Given the description of an element on the screen output the (x, y) to click on. 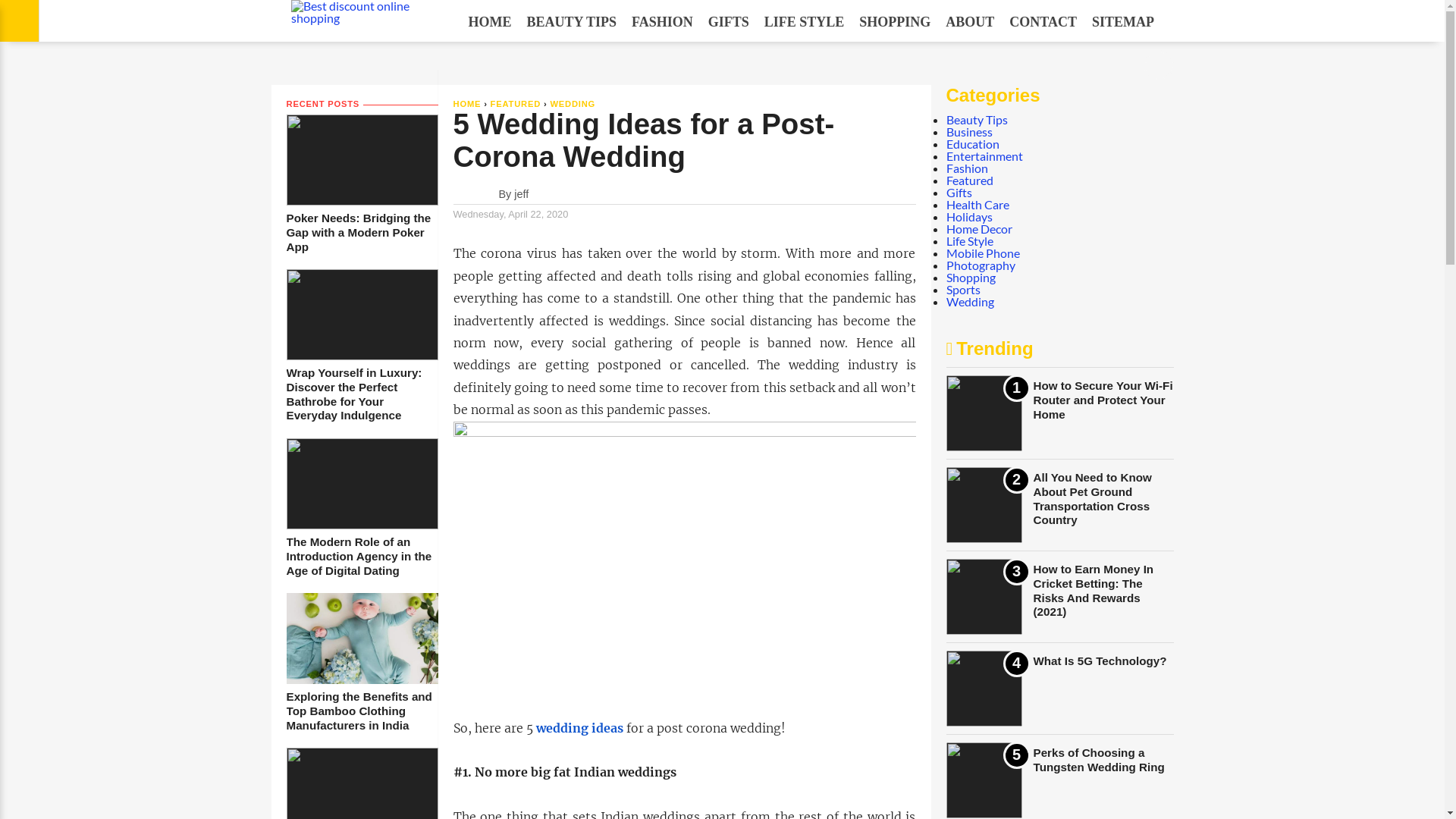
Gifts Element type: text (959, 192)
WEDDING Element type: text (572, 103)
HOME Element type: text (490, 21)
Poker Needs: Bridging the Gap with a Modern Poker App Element type: text (362, 232)
Fashion Element type: text (967, 167)
Education Element type: text (972, 143)
Featured Element type: text (969, 179)
Health Care Element type: text (977, 204)
Photography Element type: text (980, 264)
SHOPPING Element type: text (894, 21)
Shopping Element type: text (970, 276)
Business Element type: text (969, 131)
Holidays Element type: text (969, 216)
How to Secure Your Wi-Fi Router and Protect Your Home Element type: text (1102, 399)
FASHION Element type: text (662, 21)
Perks of Choosing a Tungsten Wedding Ring Element type: text (1098, 759)
Sports Element type: text (963, 289)
LIFE STYLE Element type: text (804, 21)
GIFTS Element type: text (728, 21)
What Is 5G Technology? Element type: text (1099, 660)
Life Style Element type: text (969, 240)
Home Decor Element type: text (979, 228)
ABOUT Element type: text (969, 21)
wedding ideas Element type: text (578, 727)
Entertainment Element type: text (984, 155)
SITEMAP Element type: text (1122, 21)
BEAUTY TIPS Element type: text (571, 21)
Mobile Phone Element type: text (982, 252)
Wedding Element type: text (970, 301)
CONTACT Element type: text (1042, 21)
HOME Element type: text (467, 103)
Beauty Tips Element type: text (976, 119)
FEATURED Element type: text (515, 103)
